Given the description of an element on the screen output the (x, y) to click on. 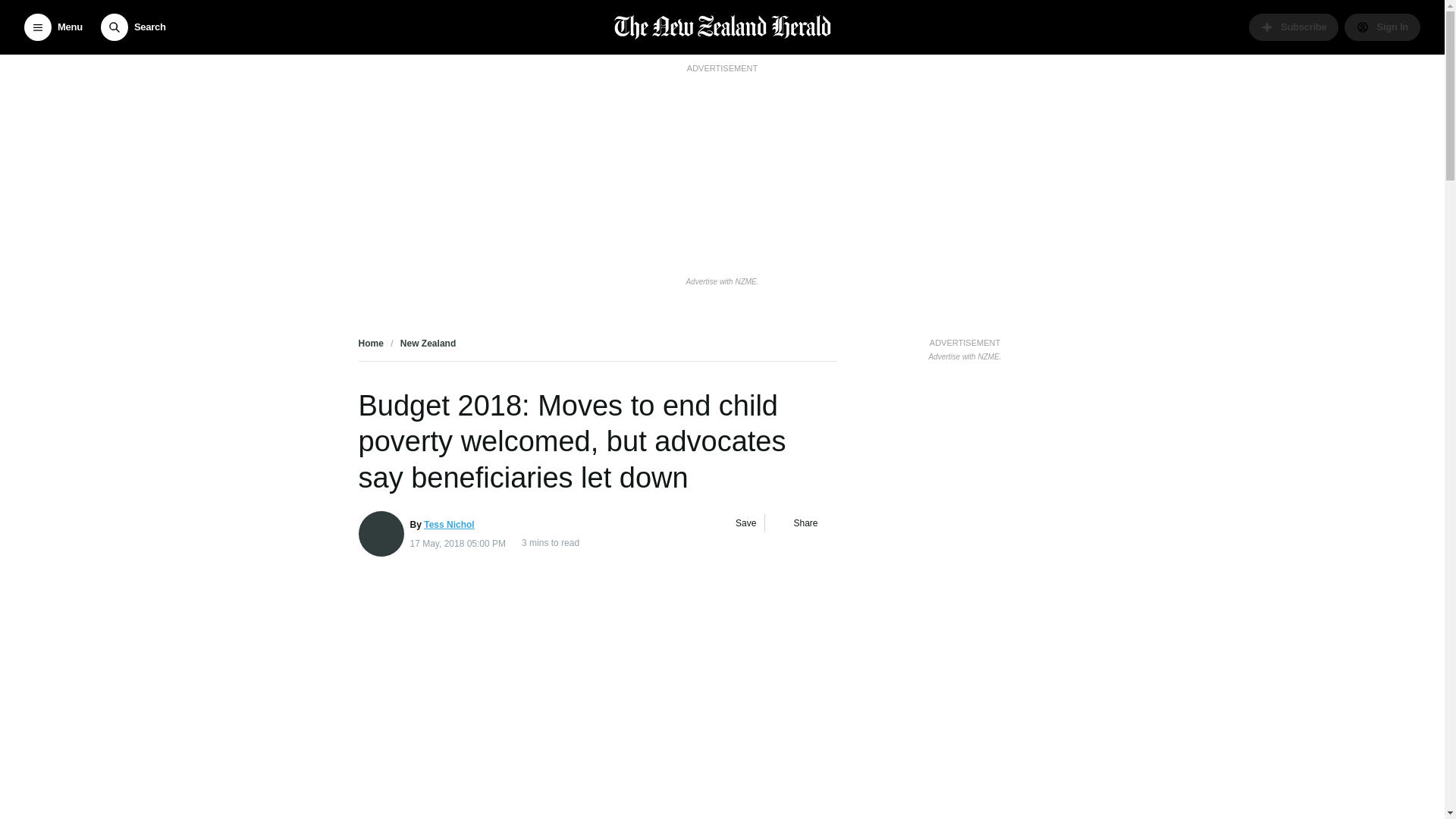
Search (132, 26)
Manage your account (1382, 26)
Sign In (1382, 26)
Subscribe (1294, 26)
Menu (53, 26)
